Given the description of an element on the screen output the (x, y) to click on. 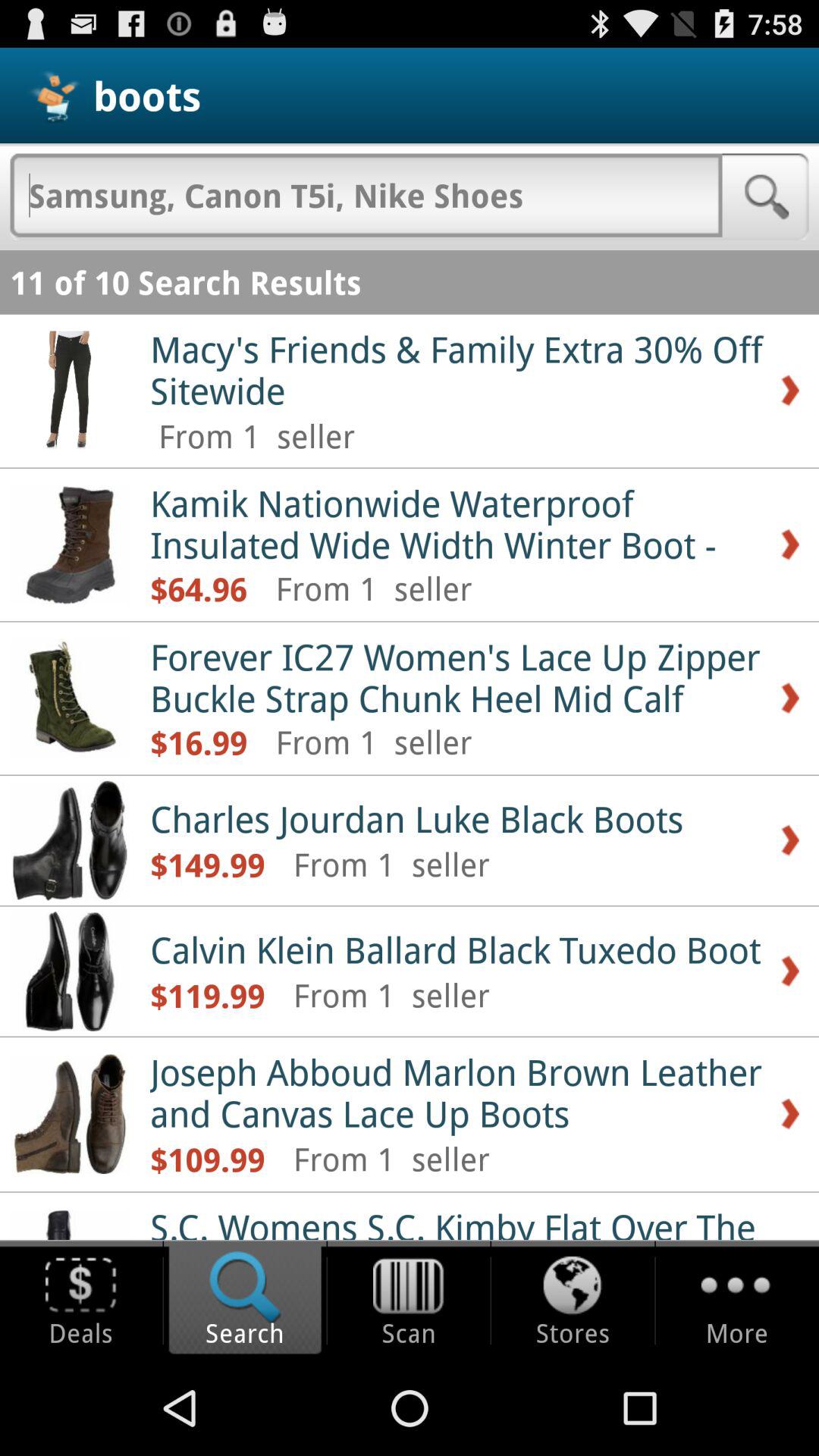
type search query (366, 195)
